Given the description of an element on the screen output the (x, y) to click on. 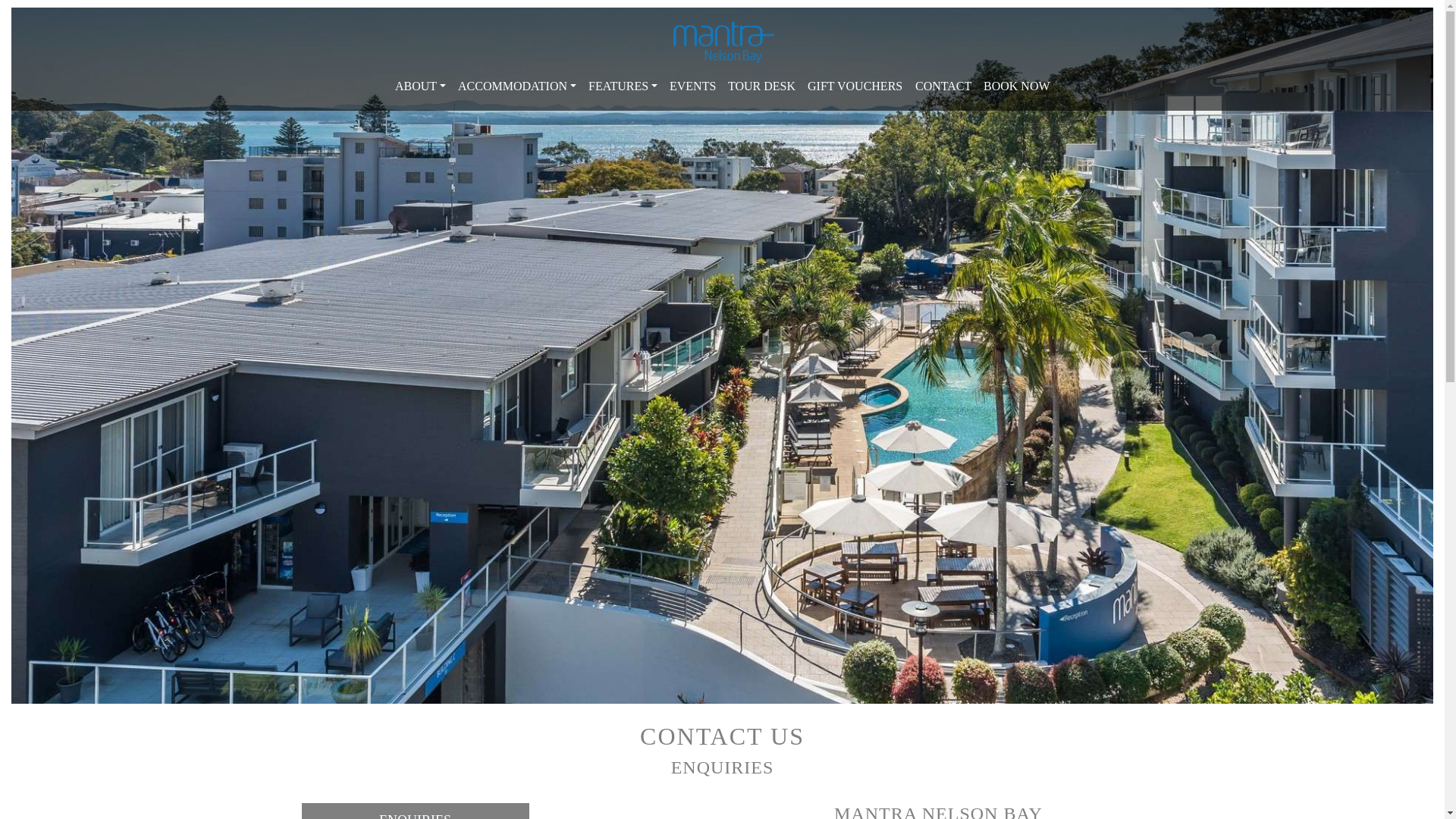
CONTACT Element type: text (943, 86)
TOUR DESK Element type: text (761, 86)
BOOK NOW Element type: text (1016, 86)
EVENTS Element type: text (692, 86)
GIFT VOUCHERS Element type: text (854, 86)
FEATURES Element type: text (622, 86)
ABOUT Element type: text (420, 86)
ACCOMMODATION Element type: text (516, 86)
